Given the description of an element on the screen output the (x, y) to click on. 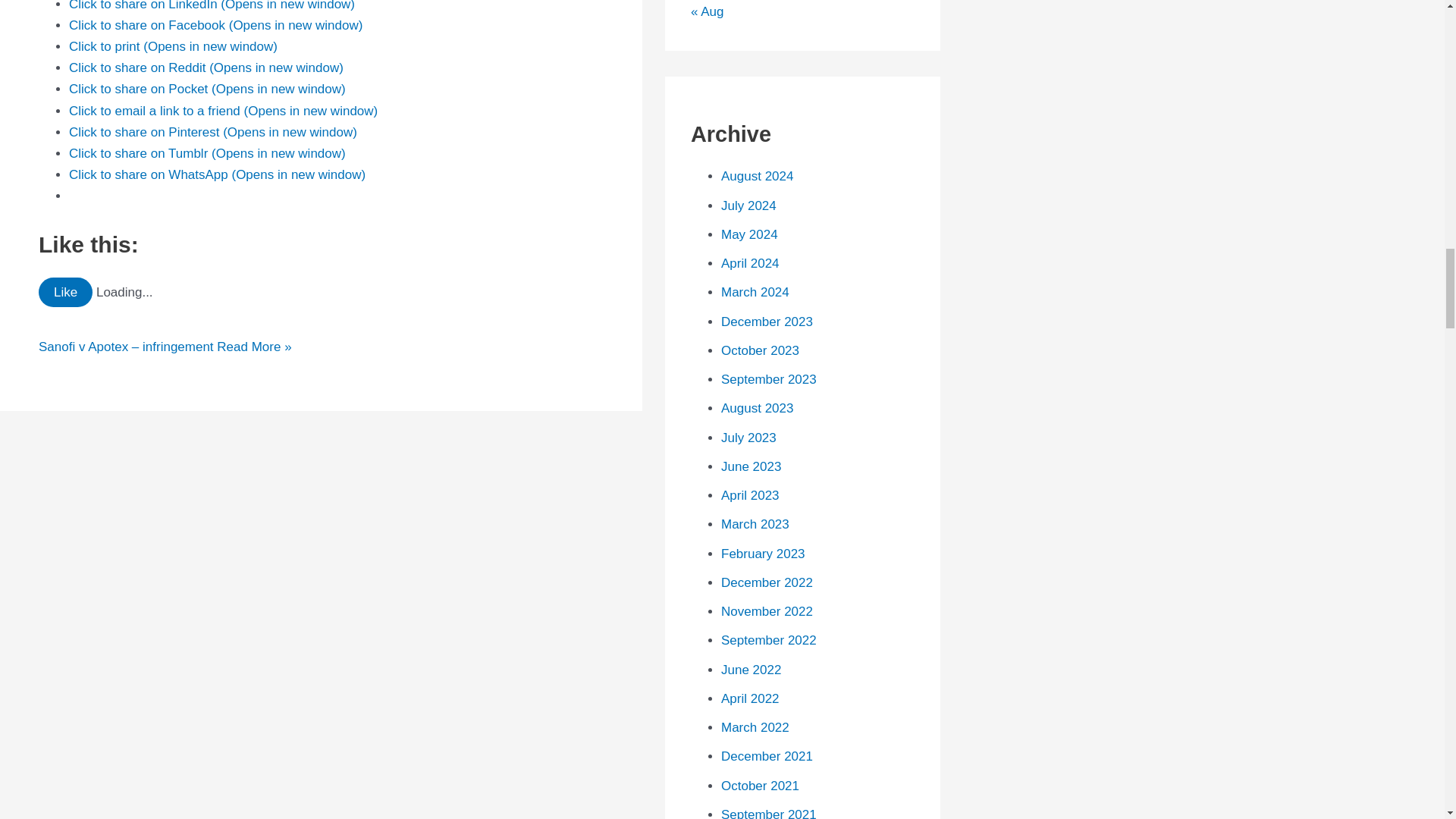
Click to email a link to a friend (222, 110)
Click to share on Reddit (205, 67)
Click to share on LinkedIn (211, 5)
Click to share on Tumblr (207, 153)
Click to print (173, 46)
Click to share on Facebook (215, 25)
Click to share on Pinterest (212, 132)
Click to share on Pocket (207, 88)
